Given the description of an element on the screen output the (x, y) to click on. 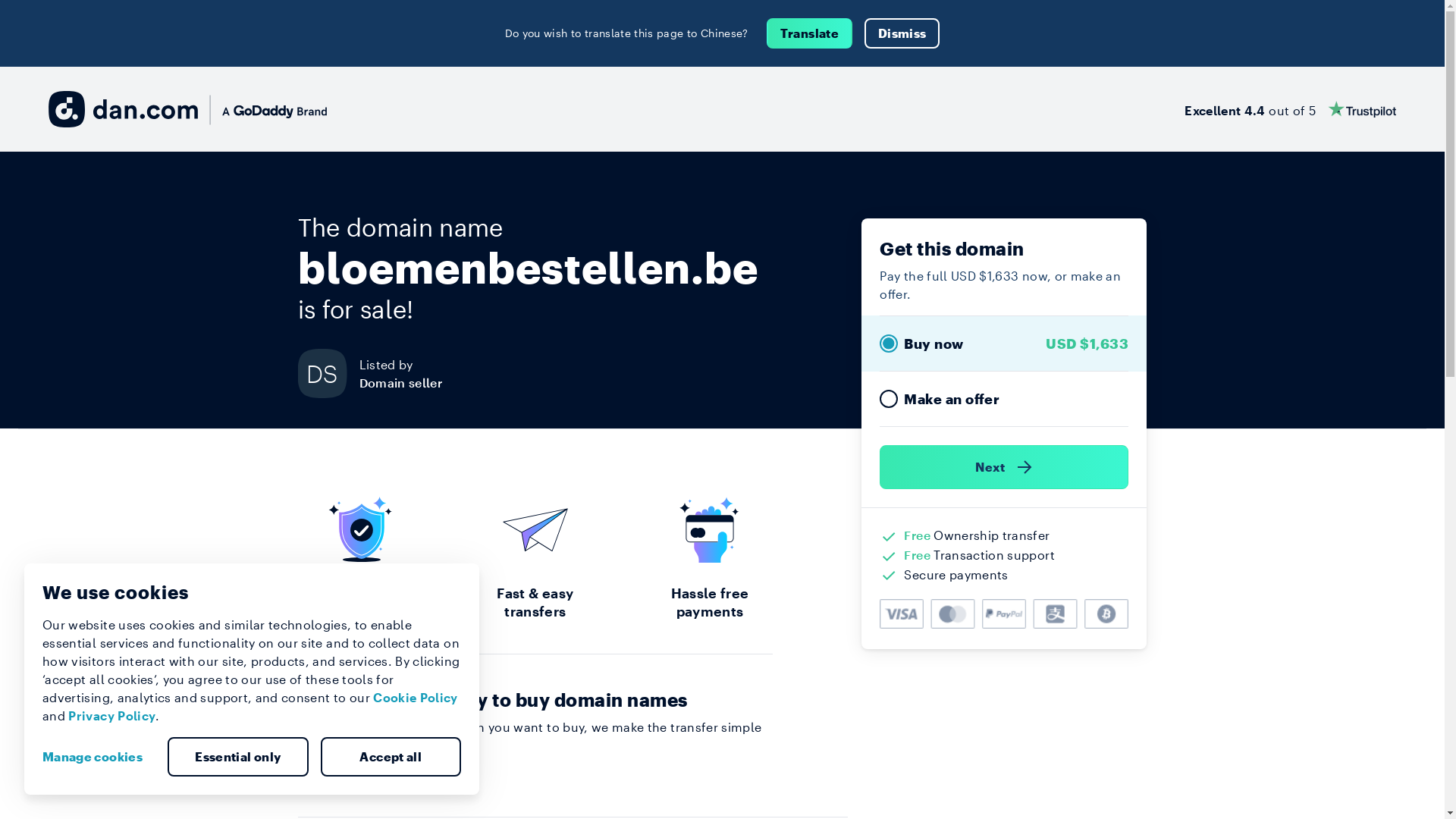
Dismiss Element type: text (901, 33)
Privacy Policy Element type: text (111, 715)
Essential only Element type: text (237, 756)
Cookie Policy Element type: text (415, 697)
Next
) Element type: text (1003, 467)
Excellent 4.4 out of 5 Element type: text (1290, 109)
Accept all Element type: text (390, 756)
Translate Element type: text (809, 33)
DS Element type: text (327, 373)
Manage cookies Element type: text (98, 756)
